Given the description of an element on the screen output the (x, y) to click on. 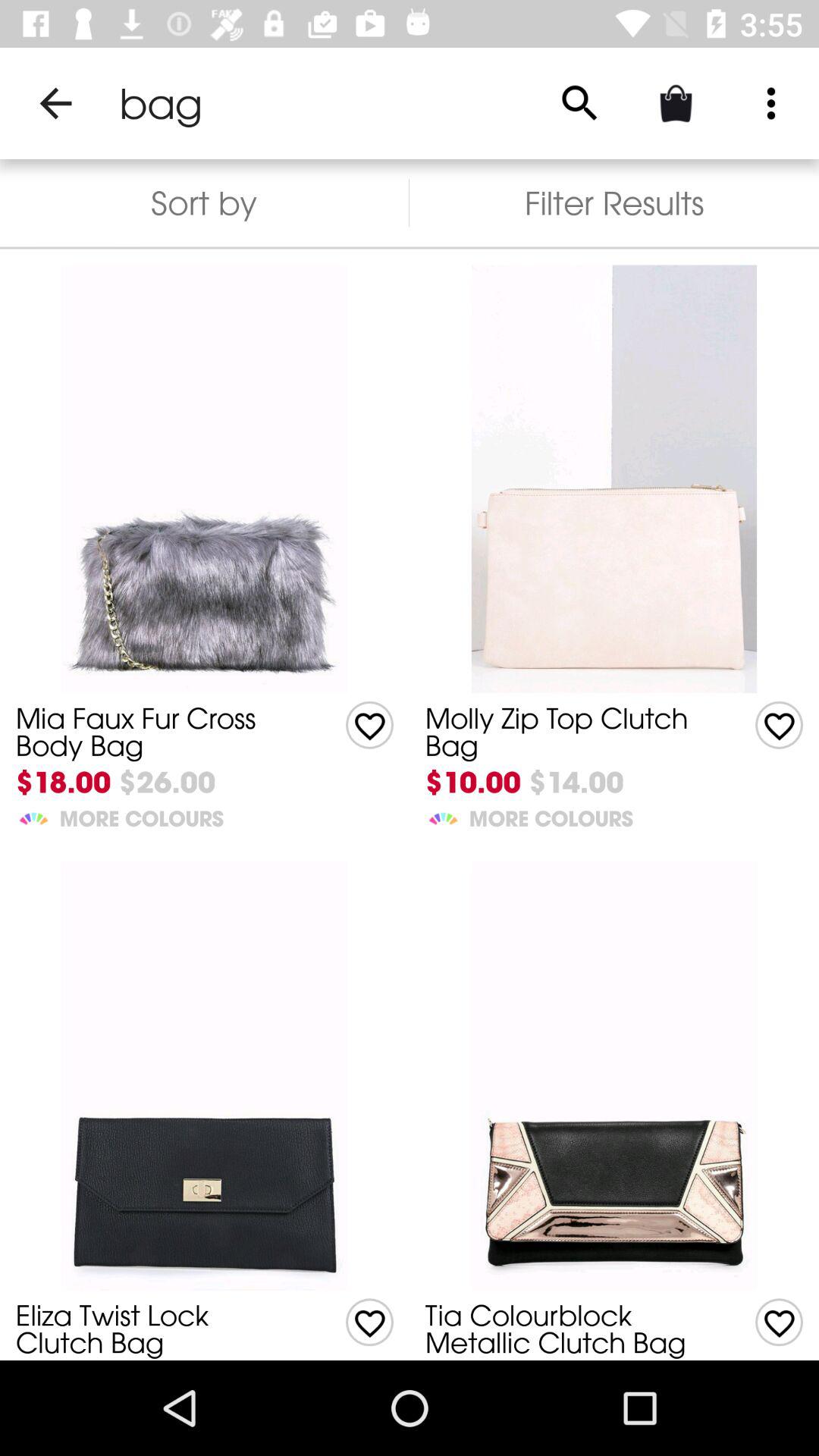
launch sort by item (204, 202)
